Given the description of an element on the screen output the (x, y) to click on. 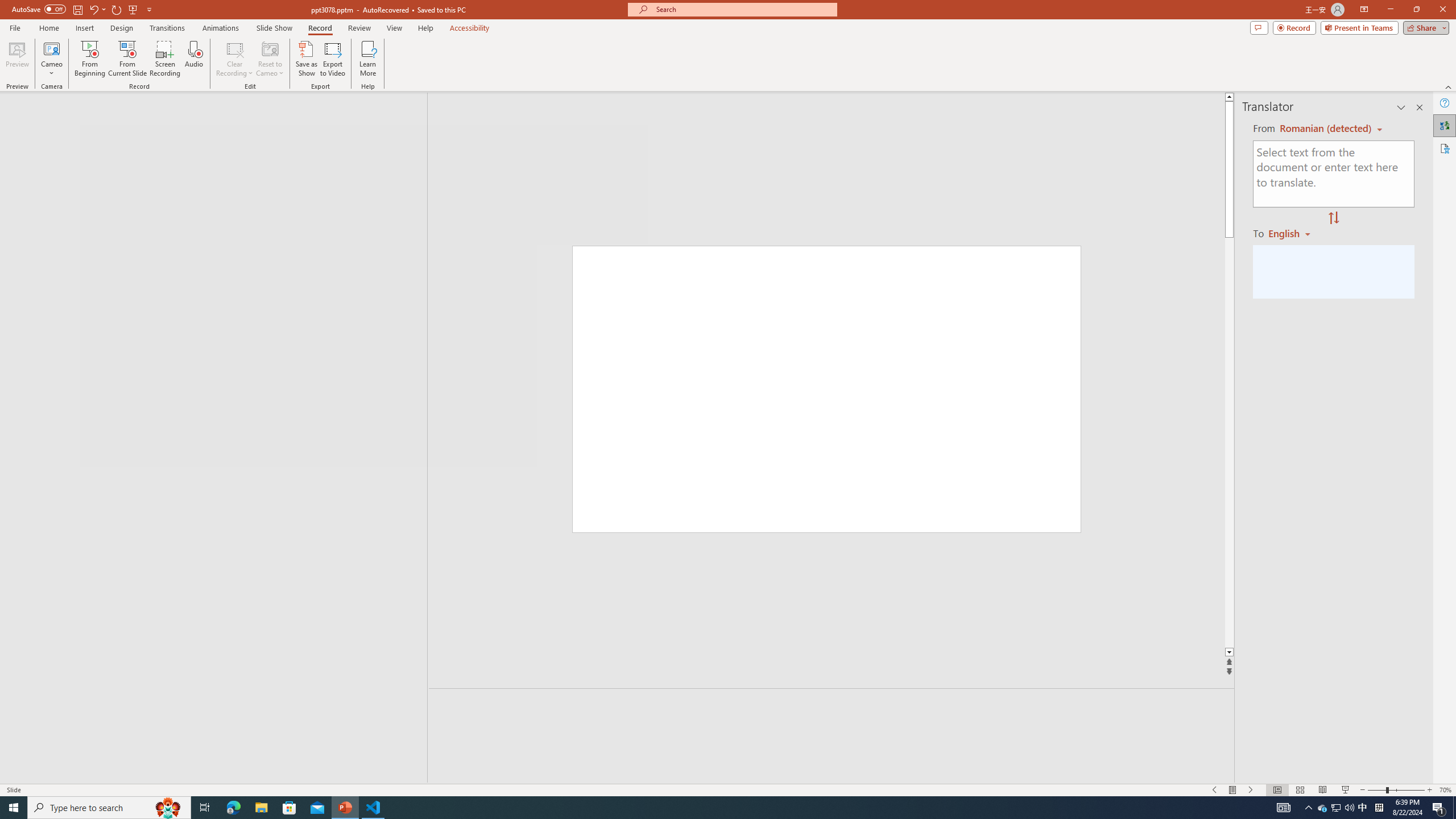
Save (77, 9)
Transitions (167, 28)
Zoom 70% (1445, 790)
Close pane (1419, 107)
Slide Show Previous On (1214, 790)
System (6, 6)
Save as Show (306, 58)
Clear Recording (234, 58)
Preview (17, 58)
Home (48, 28)
Record (320, 28)
Learn More (368, 58)
Record (1294, 27)
Animations (220, 28)
Slide Notes (831, 705)
